Given the description of an element on the screen output the (x, y) to click on. 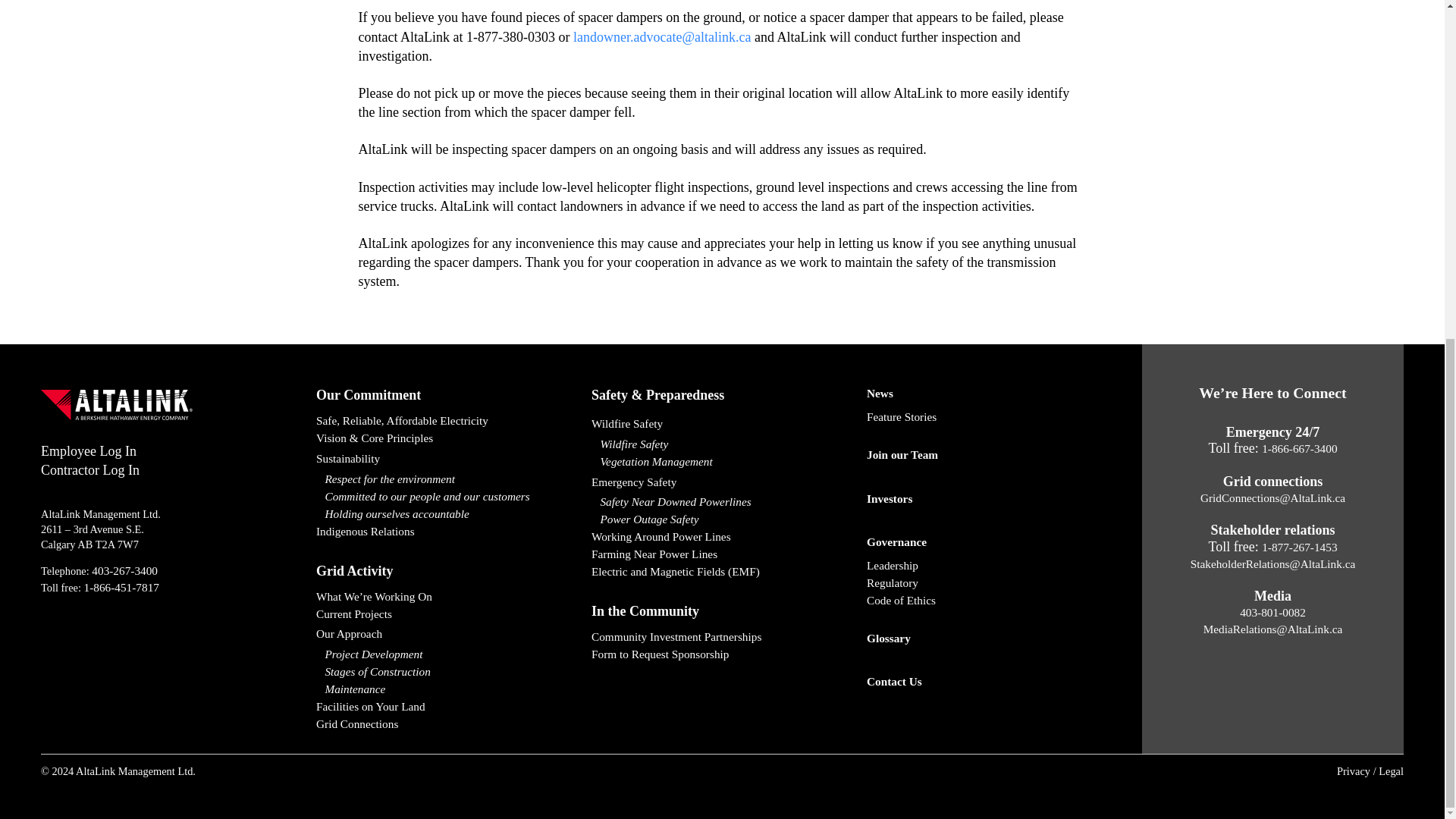
Wildfire Safety (722, 444)
Community Investment Partnerships (722, 637)
Safety Near Downed Powerlines (722, 502)
Power Outage Safety (722, 519)
Sustainability (446, 458)
Project Development (446, 654)
Safe, Reliable, Affordable Electricity (446, 420)
Wildfire Safety (722, 423)
Holding ourselves accountable (446, 514)
Grid Connections (446, 724)
